Given the description of an element on the screen output the (x, y) to click on. 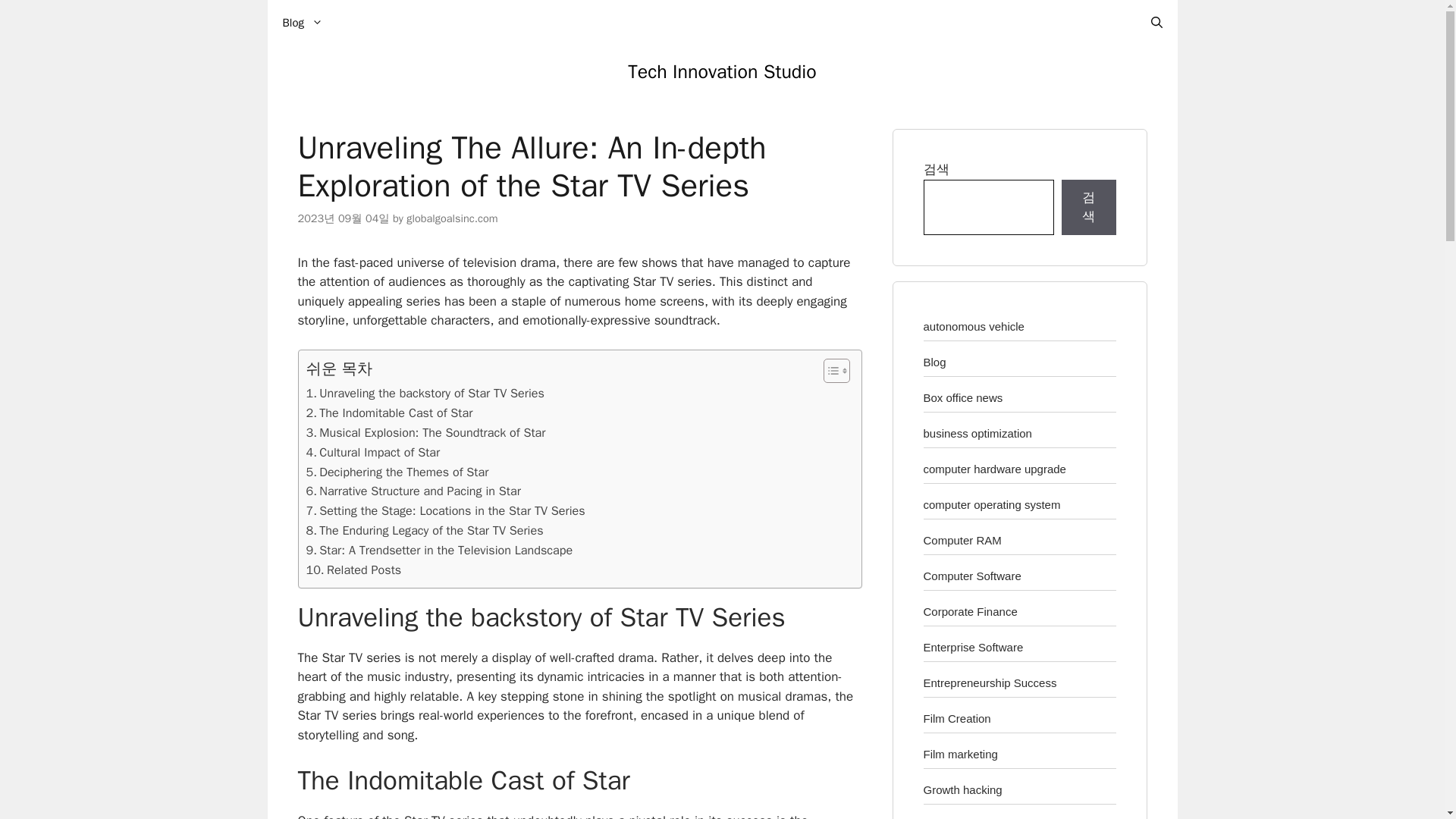
Computer Software (972, 574)
Enterprise Software (973, 645)
Cultural Impact of Star (373, 452)
Narrative Structure and Pacing in Star (413, 491)
Deciphering the Themes of Star (397, 472)
Blog (934, 360)
Corporate Finance (970, 611)
Musical Explosion: The Soundtrack of Star (425, 433)
Related Posts (353, 569)
Musical Explosion: The Soundtrack of Star (425, 433)
